Given the description of an element on the screen output the (x, y) to click on. 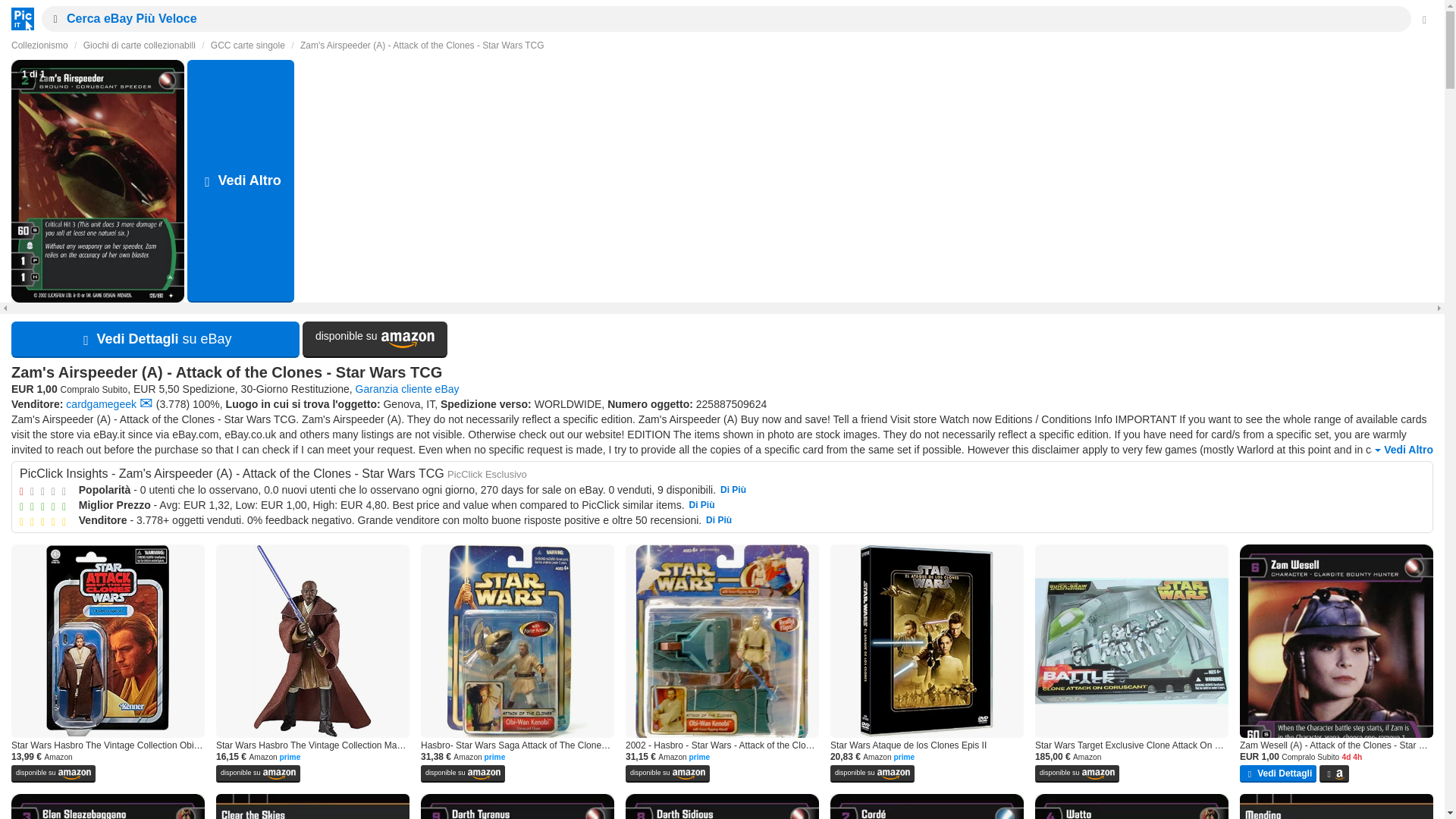
Garanzia cliente eBay (407, 388)
Vedi Altro (1401, 450)
cardgamegeek (100, 404)
PicClick (18, 18)
eBay Item Number (731, 404)
Collezionismo (39, 45)
PicClick Esclusivo (486, 473)
GCC carte singole (248, 45)
3.778 Positive Ratings (172, 404)
Vedi Dettagli su eBay (155, 339)
